Given the description of an element on the screen output the (x, y) to click on. 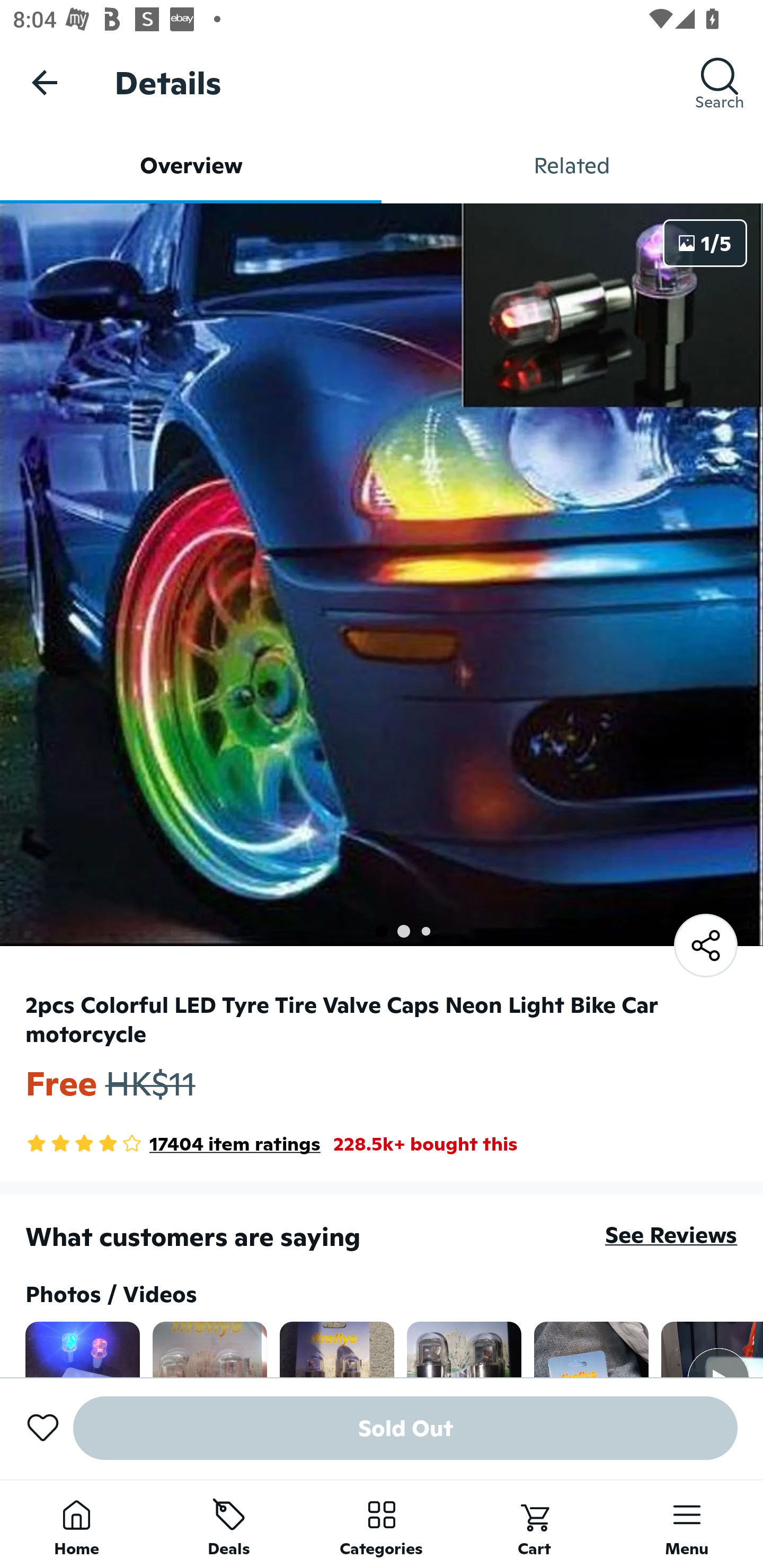
Navigate up (44, 82)
Search (719, 82)
Related (572, 165)
1/5 (705, 242)
3.8 Star Rating 17404 item ratings (172, 1143)
See Reviews (671, 1234)
Sold Out (405, 1428)
Home (76, 1523)
Deals (228, 1523)
Categories (381, 1523)
Cart (533, 1523)
Menu (686, 1523)
